Given the description of an element on the screen output the (x, y) to click on. 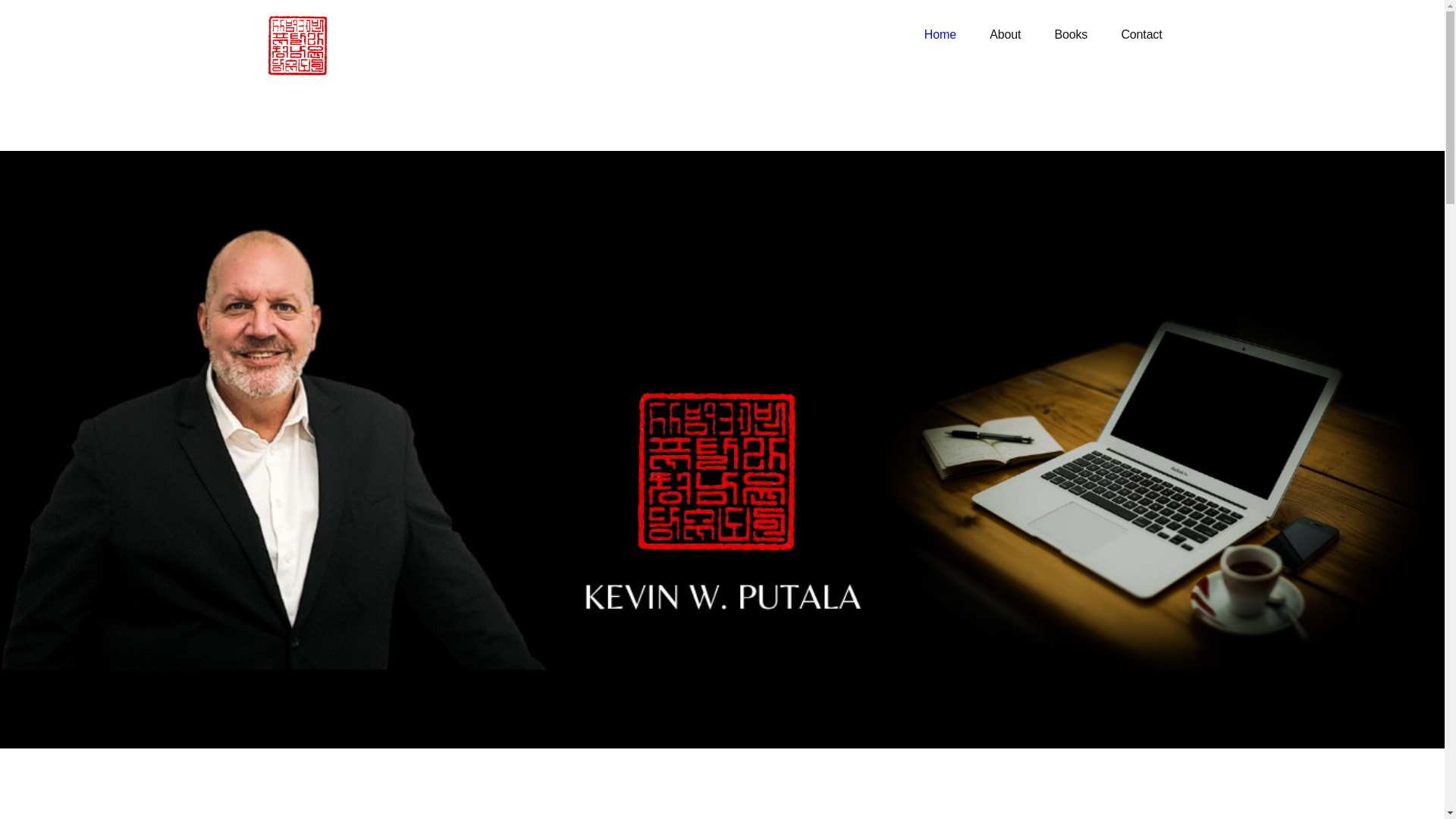
Contact (1140, 34)
About (1004, 34)
Books (1070, 34)
Home (939, 34)
